Given the description of an element on the screen output the (x, y) to click on. 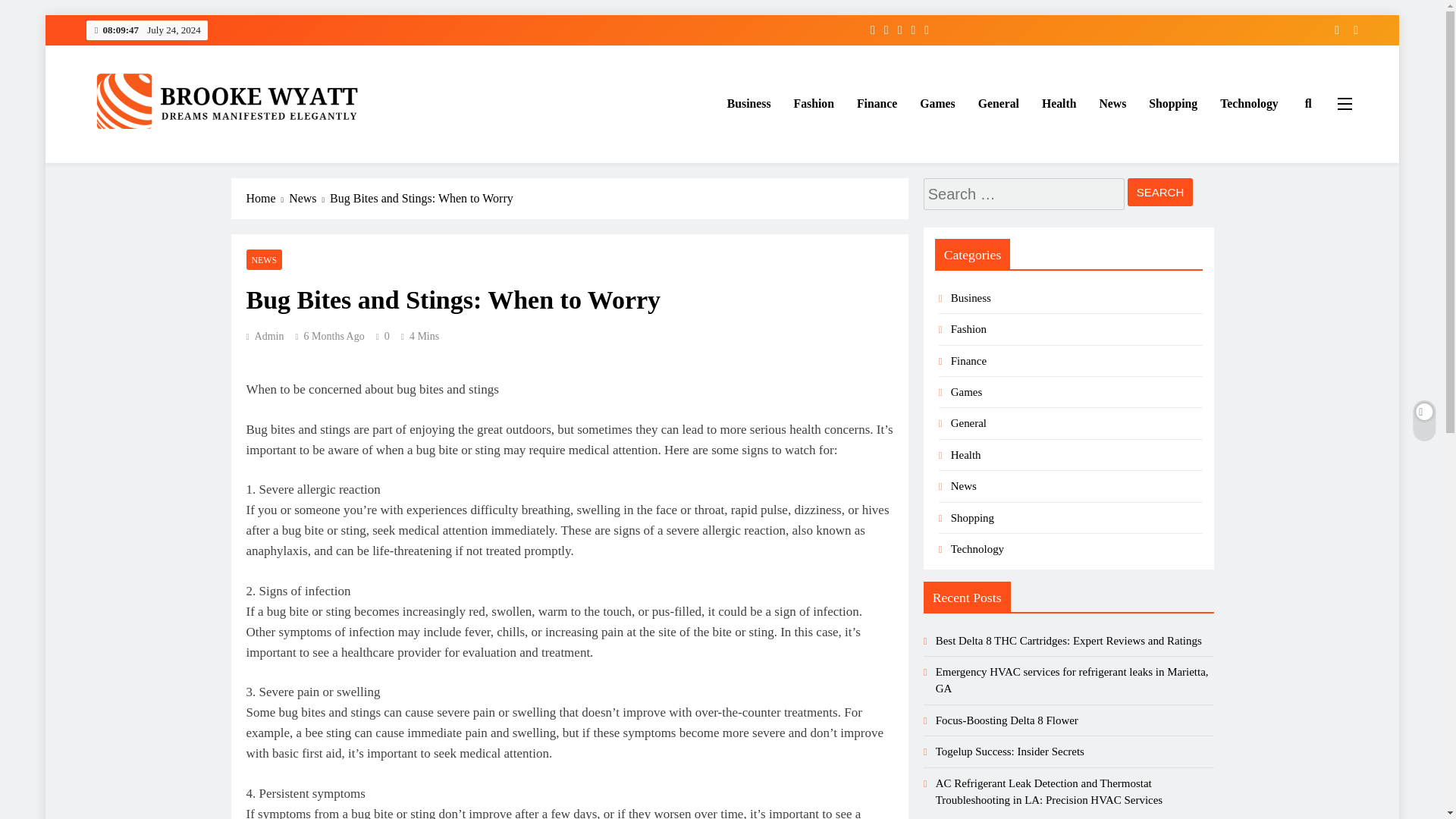
Fashion (814, 103)
Games (937, 103)
Home (267, 198)
Fashion (968, 328)
Business (970, 297)
News (1112, 103)
News (309, 198)
6 Months Ago (334, 336)
Newsletter (1331, 30)
Business (749, 103)
Brooke Wyatt (156, 164)
Search (1159, 192)
Random News (1350, 30)
Shopping (1172, 103)
